Given the description of an element on the screen output the (x, y) to click on. 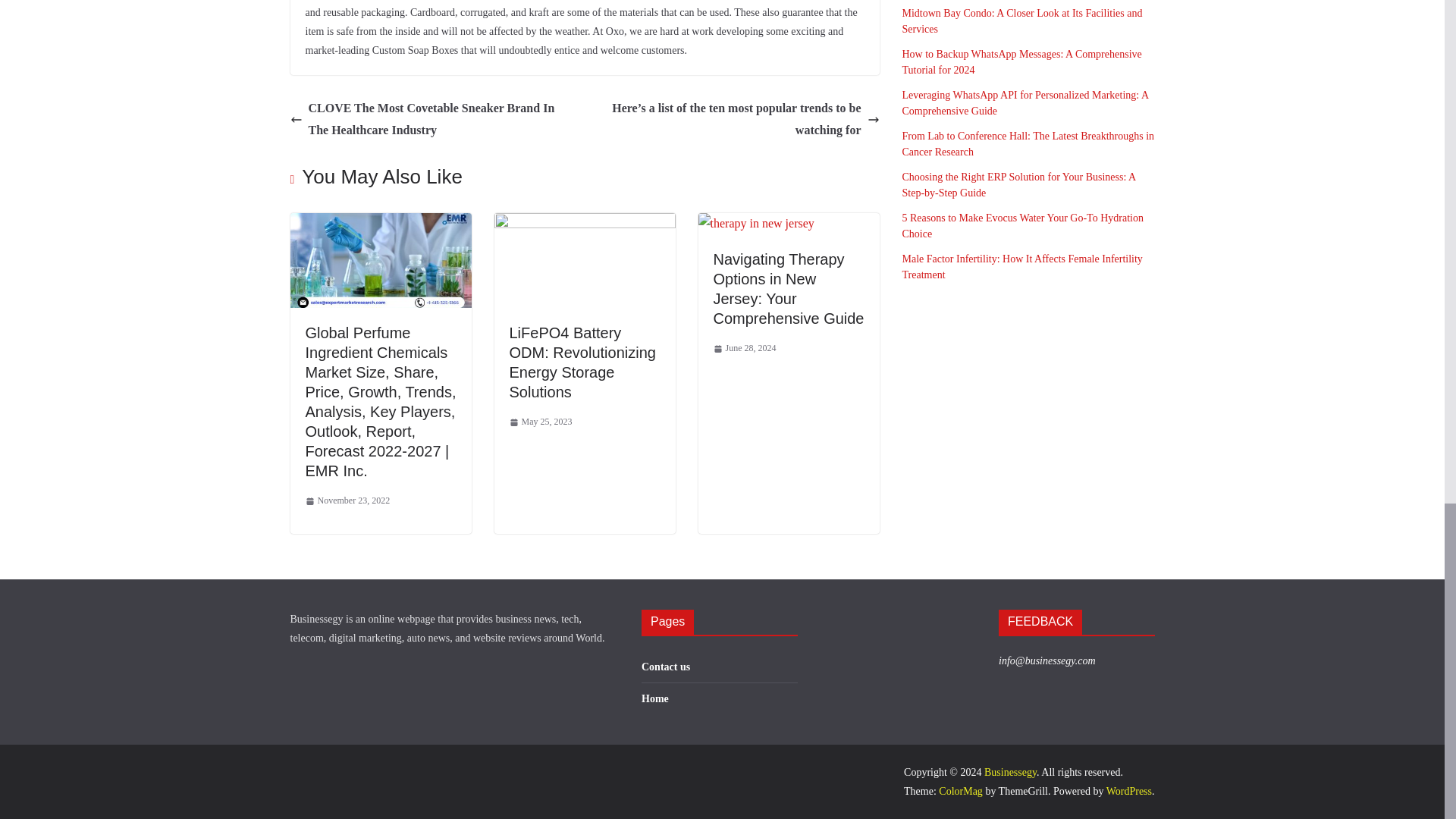
12:21 pm (347, 501)
1:14 pm (540, 422)
November 23, 2022 (347, 501)
June 28, 2024 (744, 348)
May 25, 2023 (540, 422)
